Given the description of an element on the screen output the (x, y) to click on. 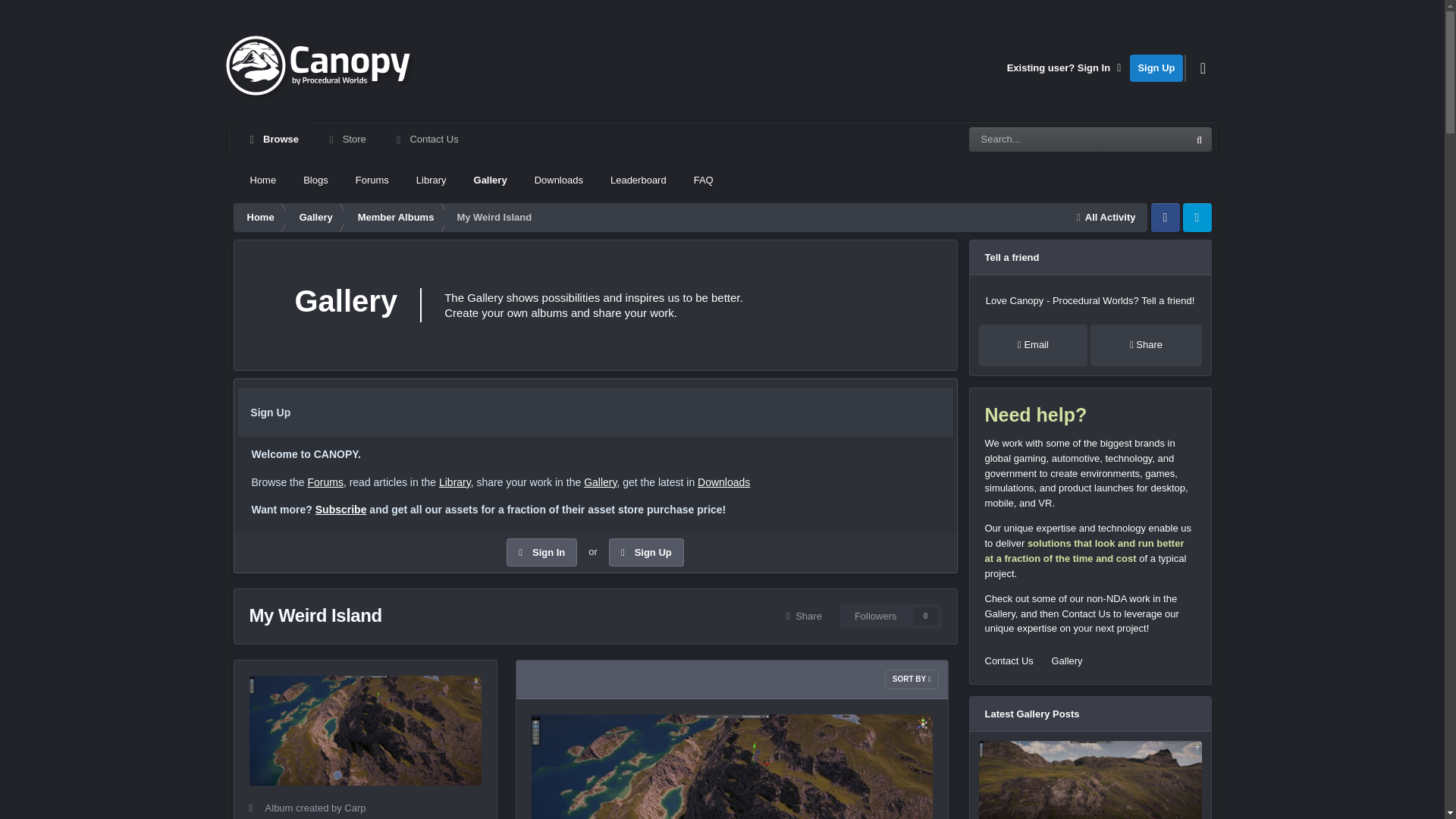
Forums (372, 180)
Gallery (490, 180)
Member Albums (394, 217)
Store (346, 139)
Customizer (1204, 67)
Gallery (314, 217)
Library (431, 180)
Blogs (315, 180)
Browse (272, 139)
Sign in to follow this (891, 616)
Home (258, 217)
Home (262, 180)
Home (258, 217)
Contact Us (425, 139)
View the image nayte4.JPG (1089, 780)
